Given the description of an element on the screen output the (x, y) to click on. 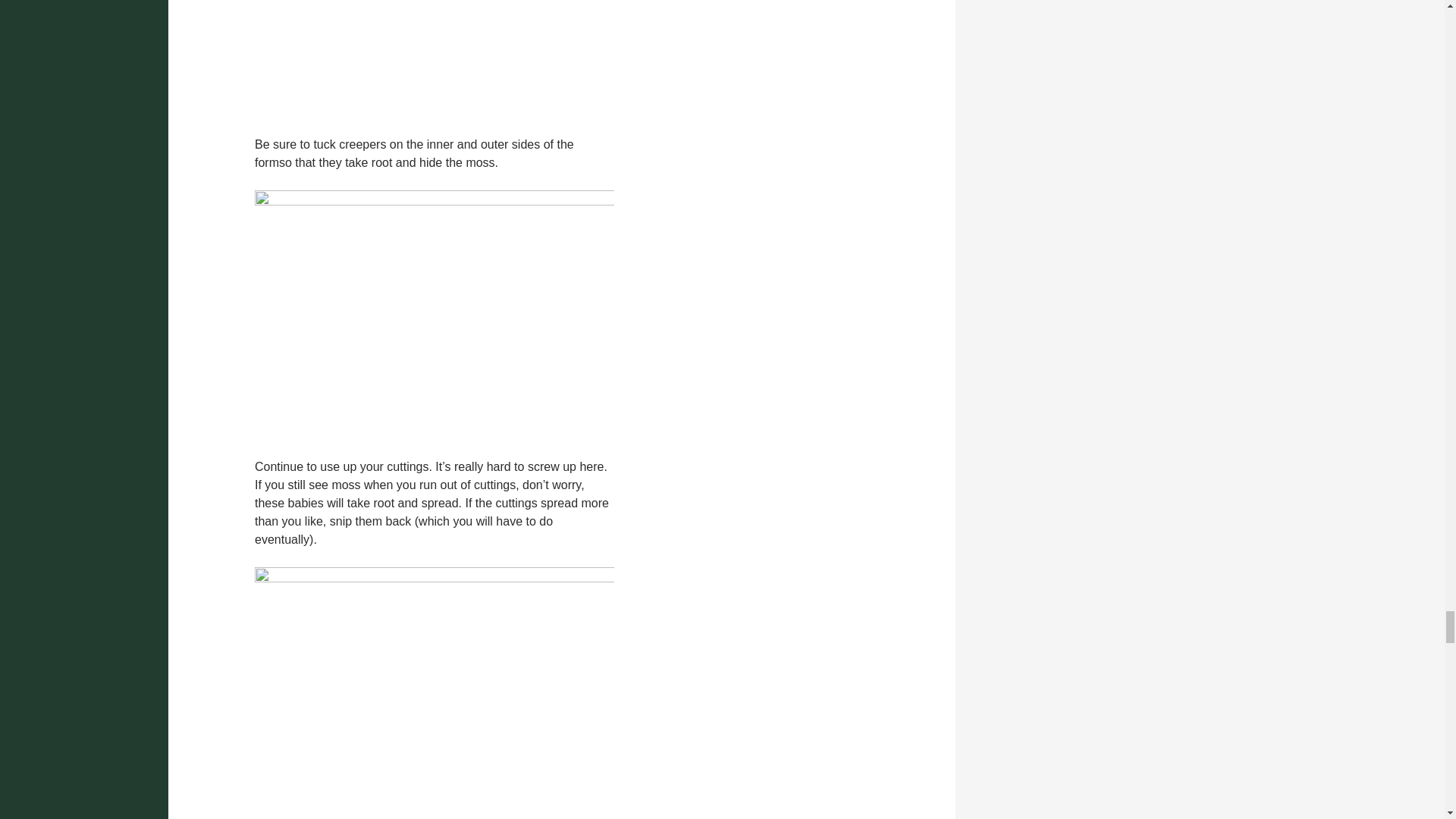
succulent wreath7 (434, 314)
Succulent wreath 5 (434, 58)
